Given the description of an element on the screen output the (x, y) to click on. 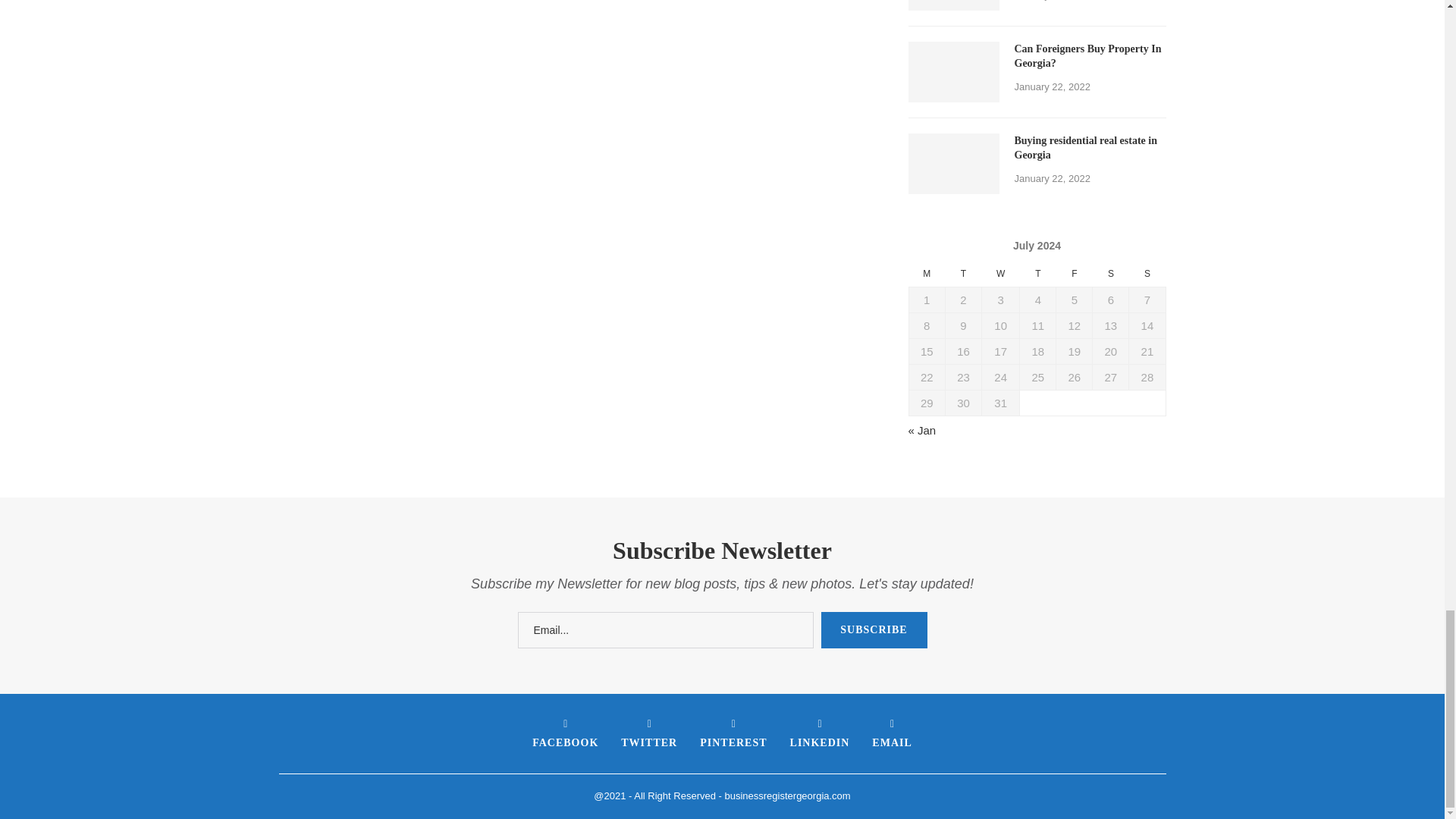
Subscribe (873, 629)
